Given the description of an element on the screen output the (x, y) to click on. 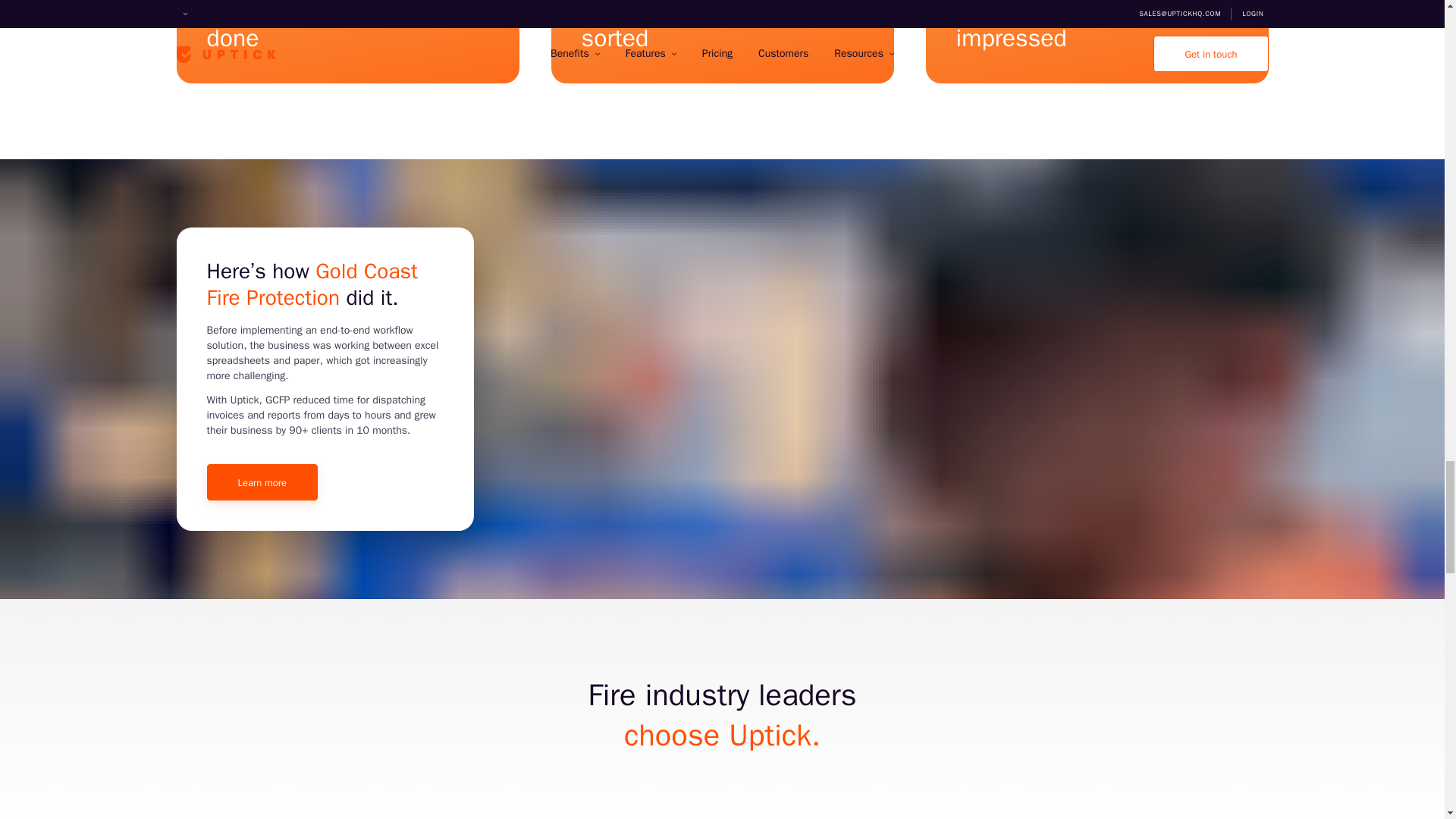
Learn more (261, 482)
